Given the description of an element on the screen output the (x, y) to click on. 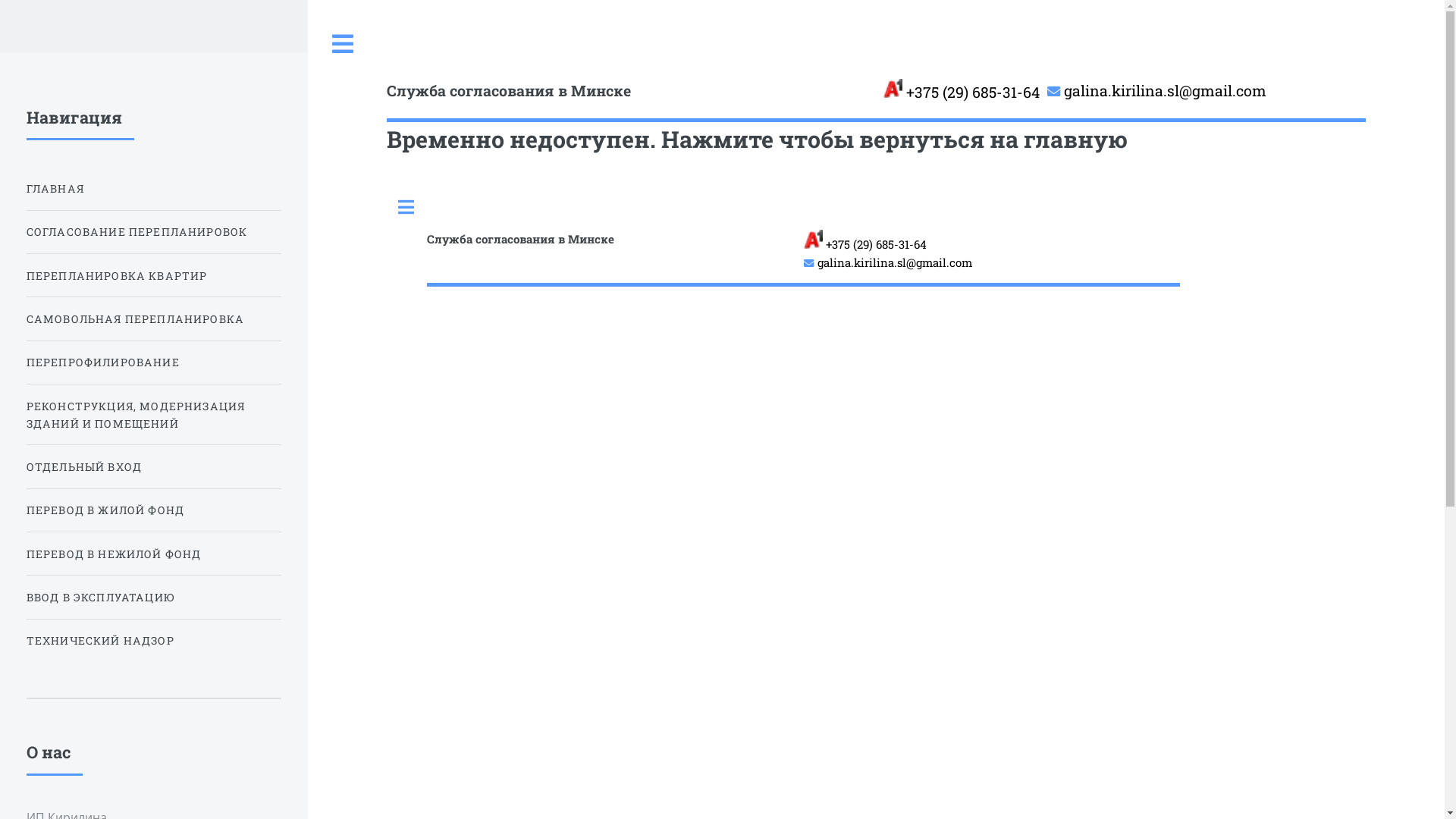
galina.kirilina.sl@gmail.com Element type: text (1156, 91)
Toggle Element type: text (343, 44)
+375 (29) 685-31-64 Element type: text (961, 91)
